Given the description of an element on the screen output the (x, y) to click on. 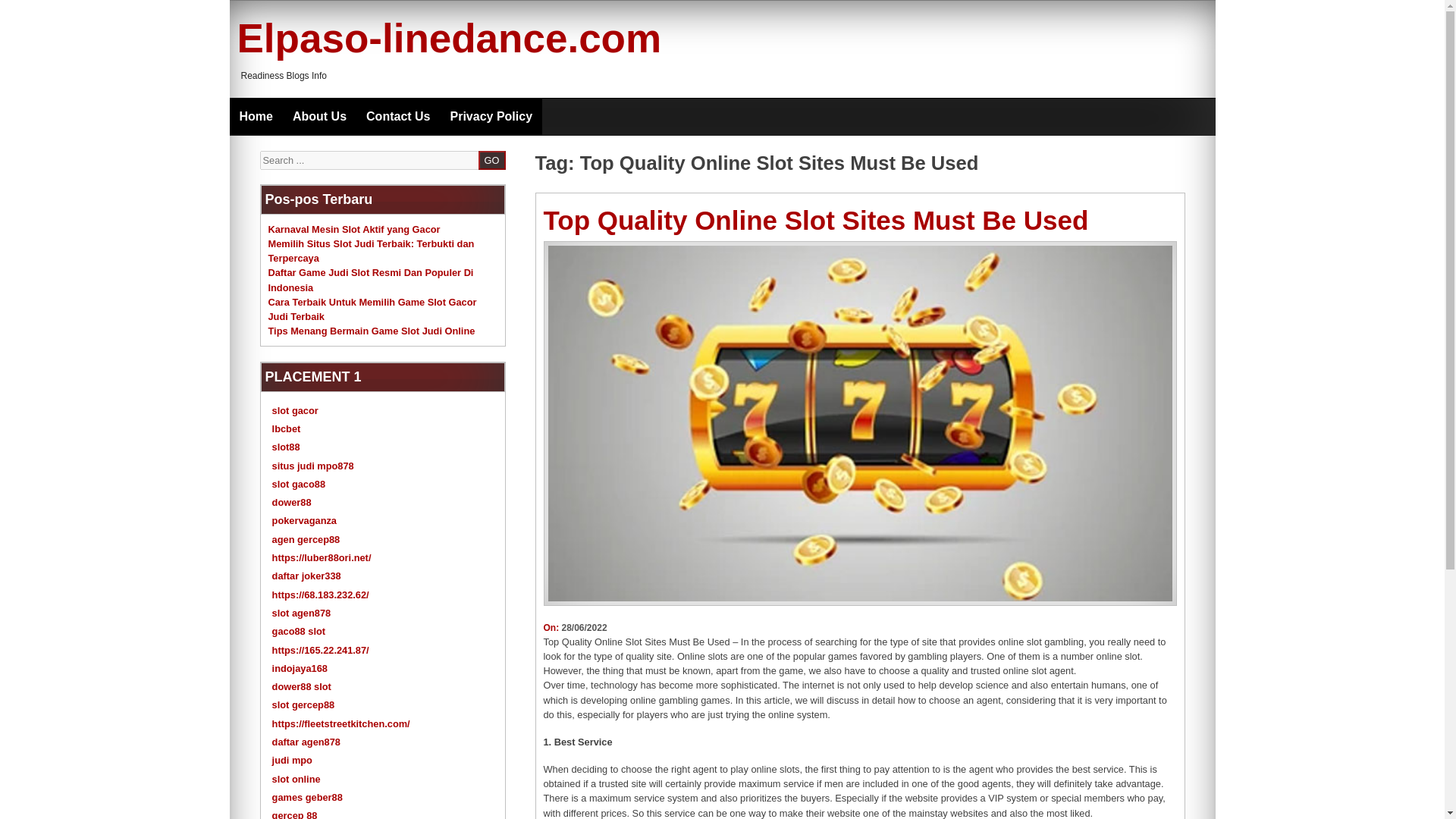
slot gaco88 (298, 483)
daftar joker338 (306, 575)
GO (492, 158)
gaco88 slot (298, 631)
indojaya168 (299, 668)
About Us (319, 116)
slot gacor (295, 410)
GO (492, 158)
slot88 (285, 446)
Home (255, 116)
Contact Us (397, 116)
GO (492, 158)
situs judi mpo878 (312, 465)
Privacy Policy (492, 116)
slot gercep88 (303, 704)
